Given the description of an element on the screen output the (x, y) to click on. 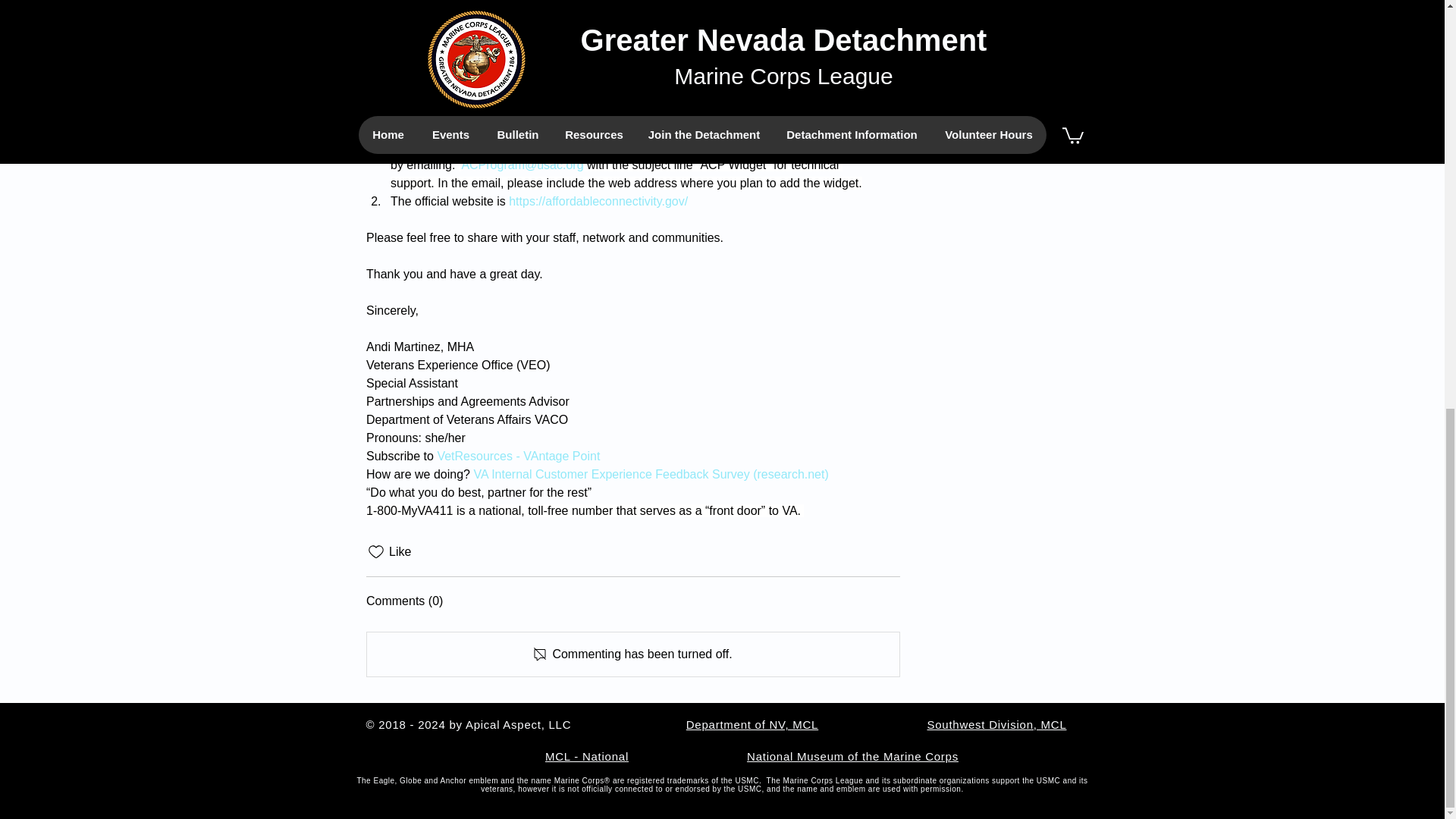
People can access it here (499, 110)
Southwest Division, MCL (995, 724)
Department of NV, MCL (751, 724)
MCL - National (586, 756)
National Museum of the Marine Corps (852, 756)
VetResources - VAntage Point (517, 455)
